Given the description of an element on the screen output the (x, y) to click on. 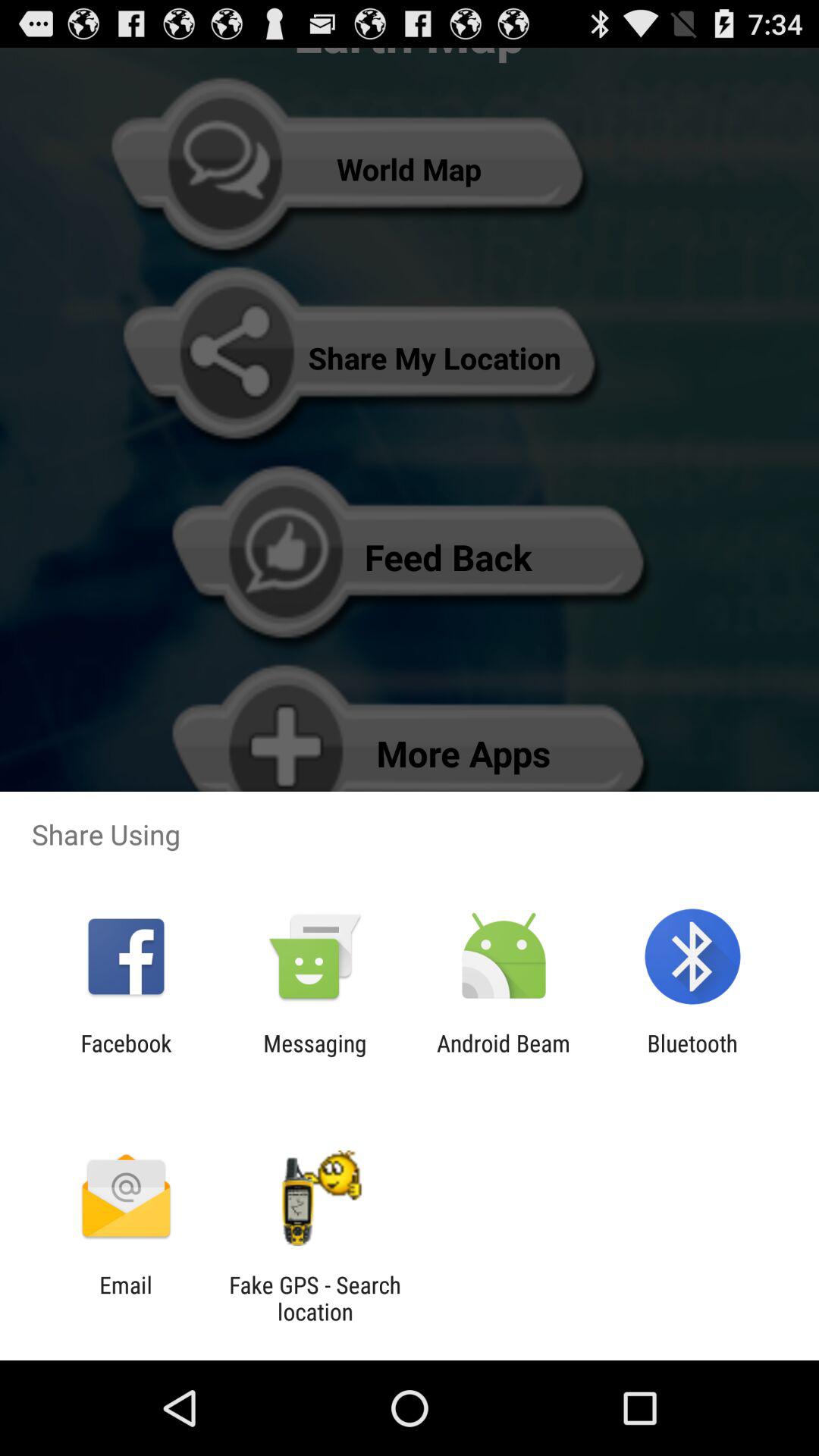
jump until the android beam app (503, 1056)
